Given the description of an element on the screen output the (x, y) to click on. 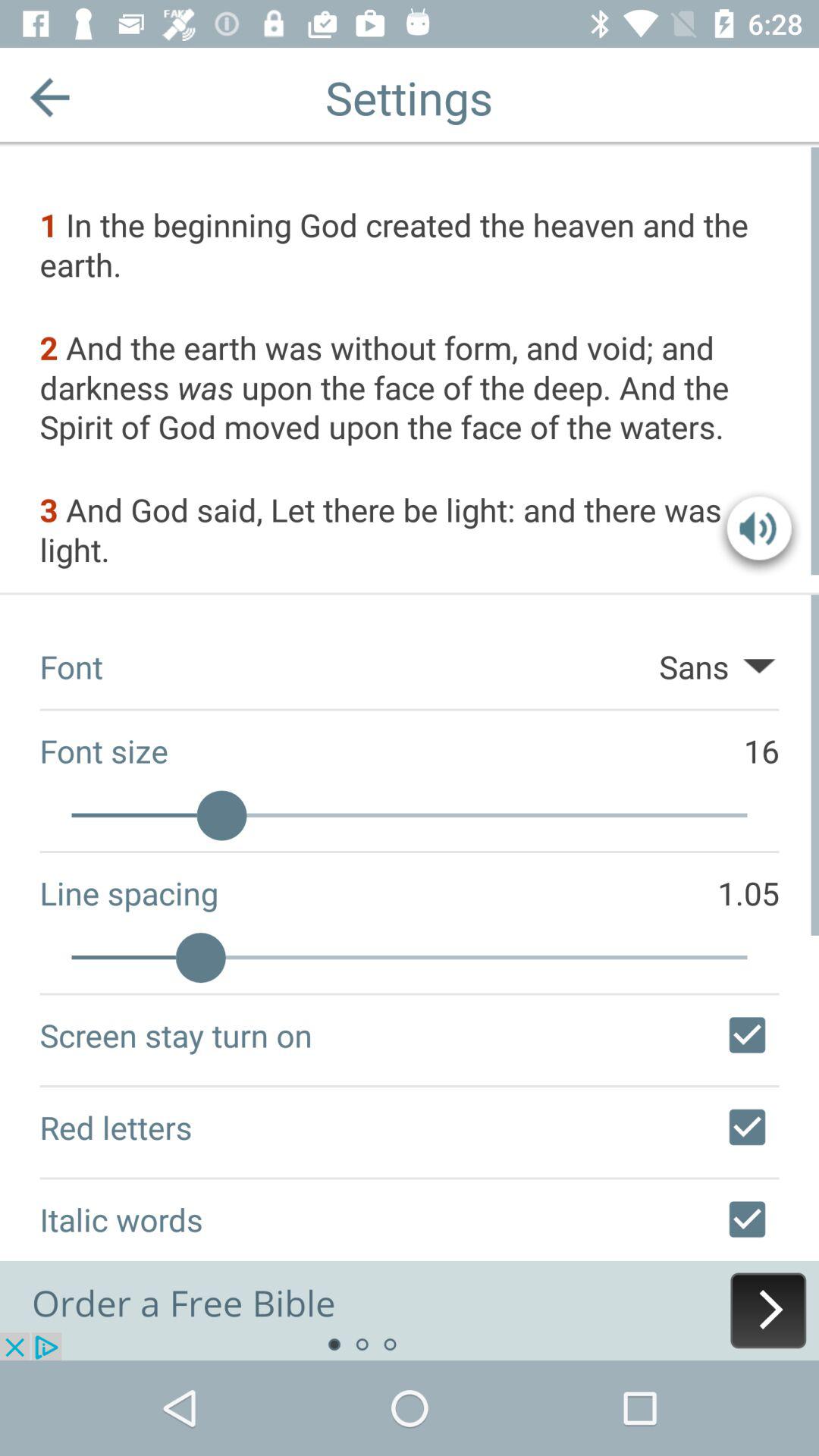
selection box (747, 1127)
